Given the description of an element on the screen output the (x, y) to click on. 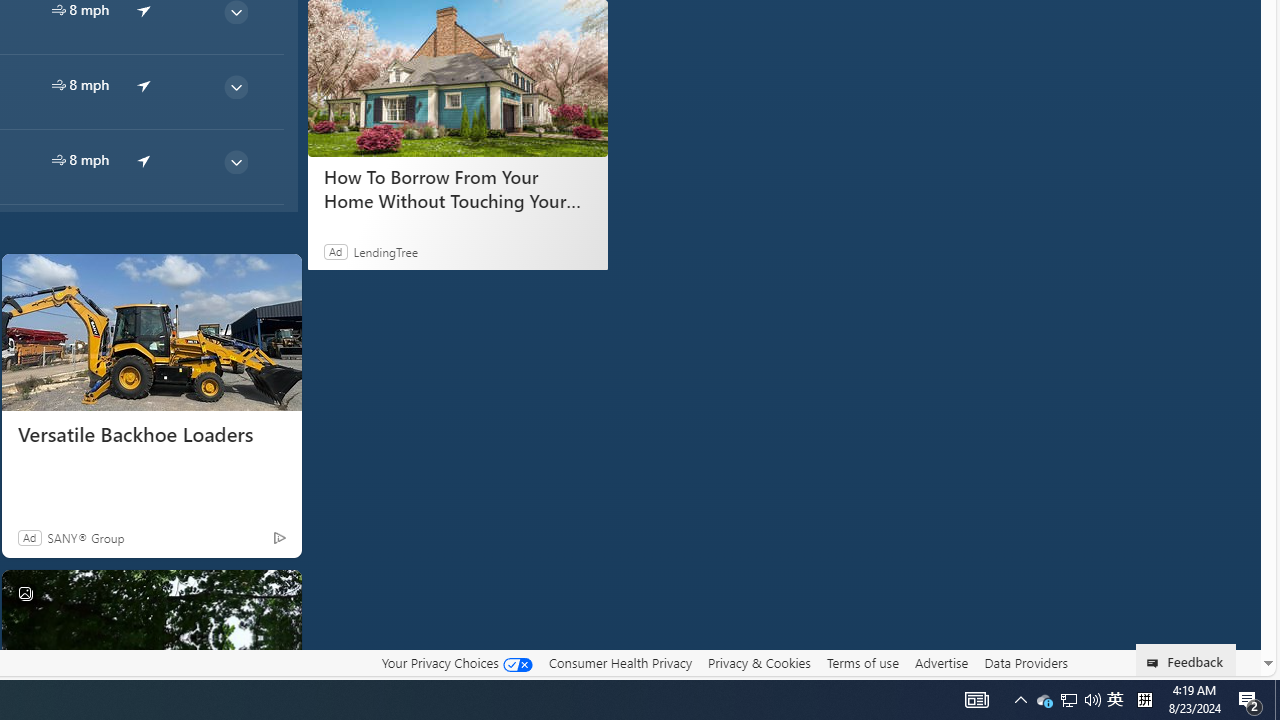
common/arrow (144, 159)
How To Borrow From Your Home Without Touching Your Mortgage (456, 188)
Class: feedback_link_icon-DS-EntryPoint1-1 (1156, 663)
common/thinArrow (235, 161)
LendingTree (385, 251)
Data Providers (1025, 662)
Your Privacy Choices (456, 663)
